Given the description of an element on the screen output the (x, y) to click on. 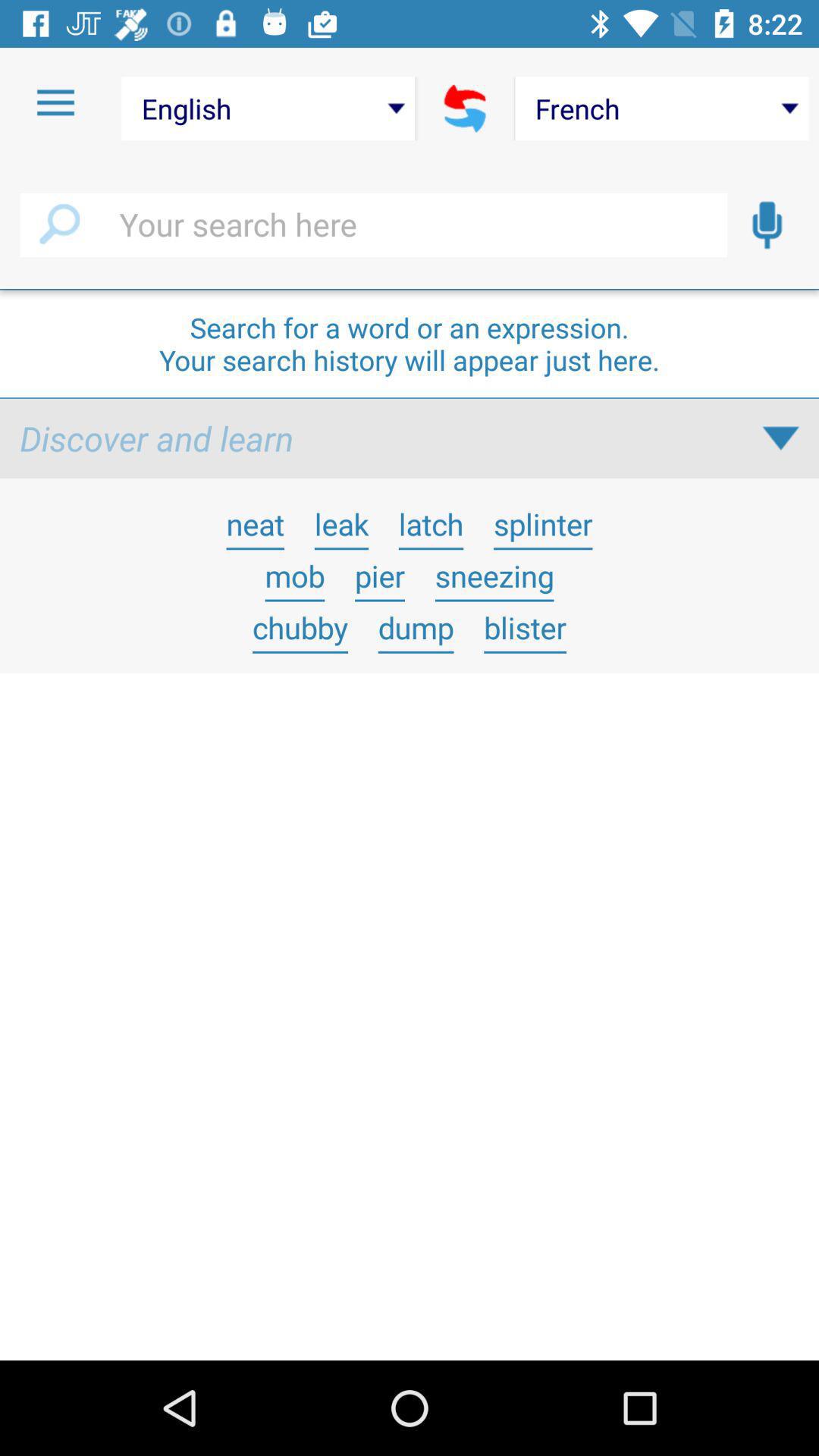
use microphone (767, 225)
